Given the description of an element on the screen output the (x, y) to click on. 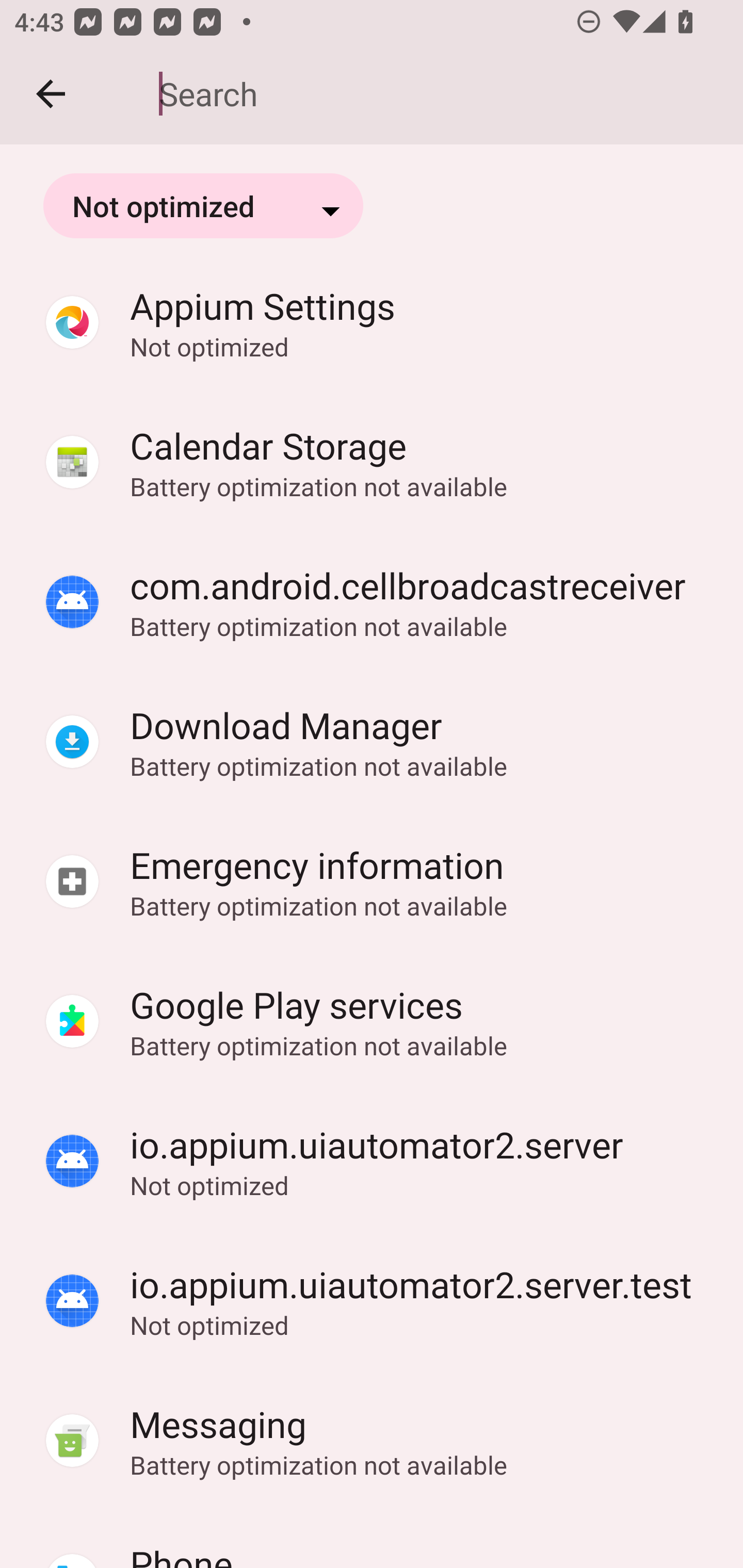
Collapse (50, 93)
Search (436, 94)
Not optimized (203, 205)
Appium Settings Appium Settings Not optimized (371, 322)
